Given the description of an element on the screen output the (x, y) to click on. 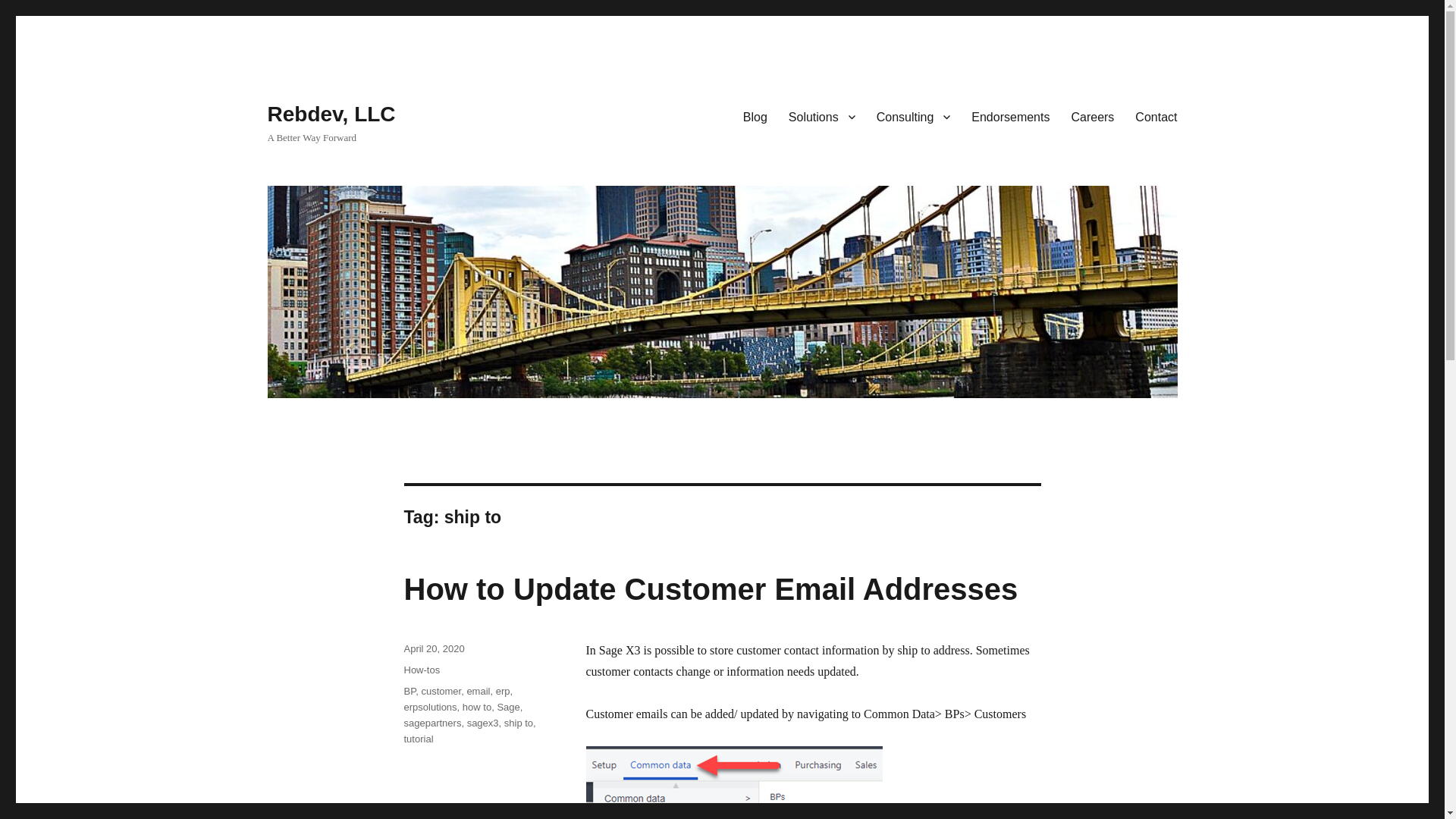
email (477, 690)
How-tos (421, 669)
sagepartners (432, 722)
Blog (754, 116)
Rebdev, LLC (330, 114)
customer (440, 690)
tutorial (417, 738)
Careers (1091, 116)
How to Update Customer Email Addresses (710, 589)
erpsolutions (430, 706)
Endorsements (1009, 116)
ship to (517, 722)
BP (408, 690)
April 20, 2020 (433, 648)
how to (477, 706)
